Given the description of an element on the screen output the (x, y) to click on. 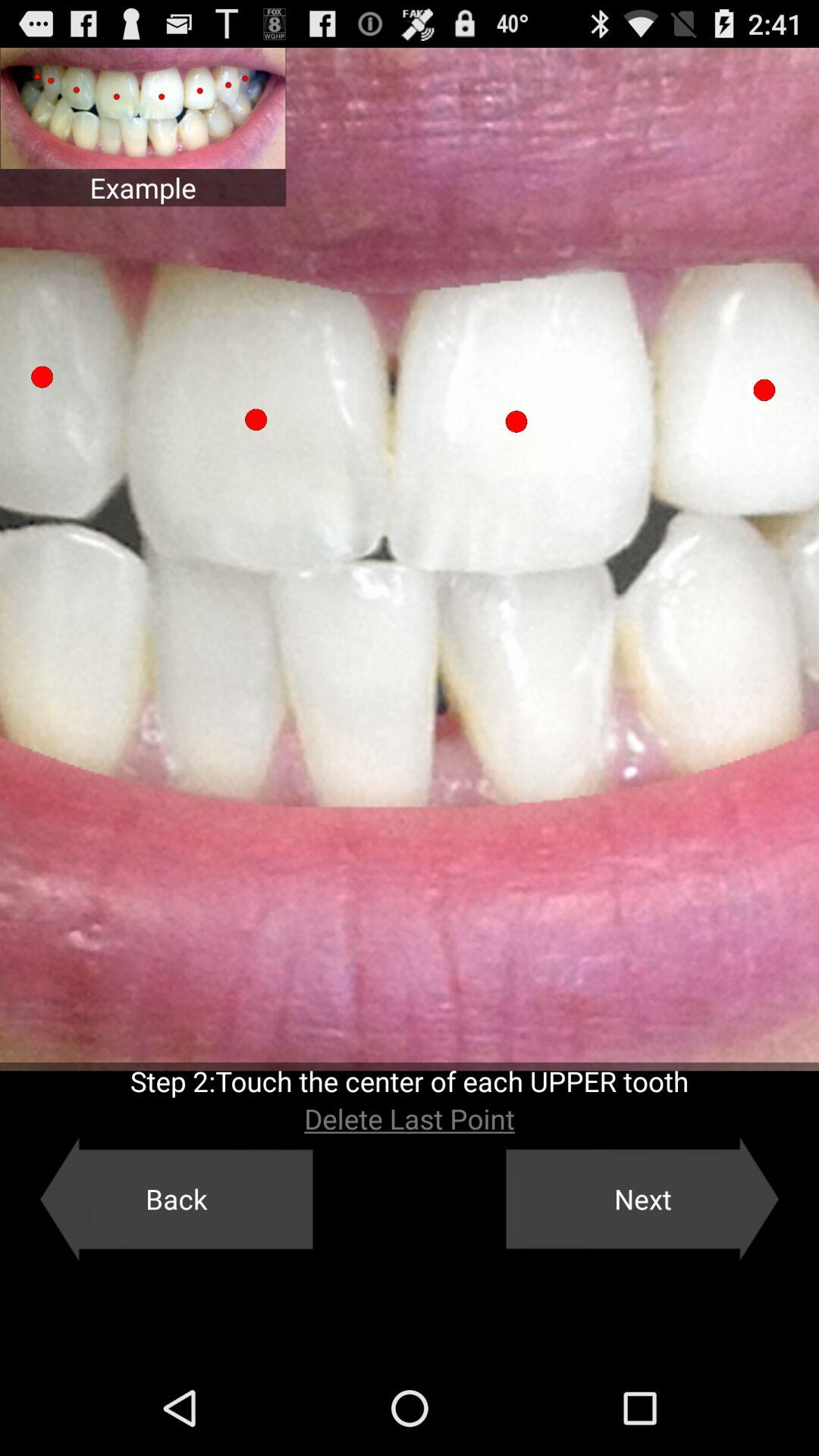
choose the button to the left of the next (175, 1198)
